Given the description of an element on the screen output the (x, y) to click on. 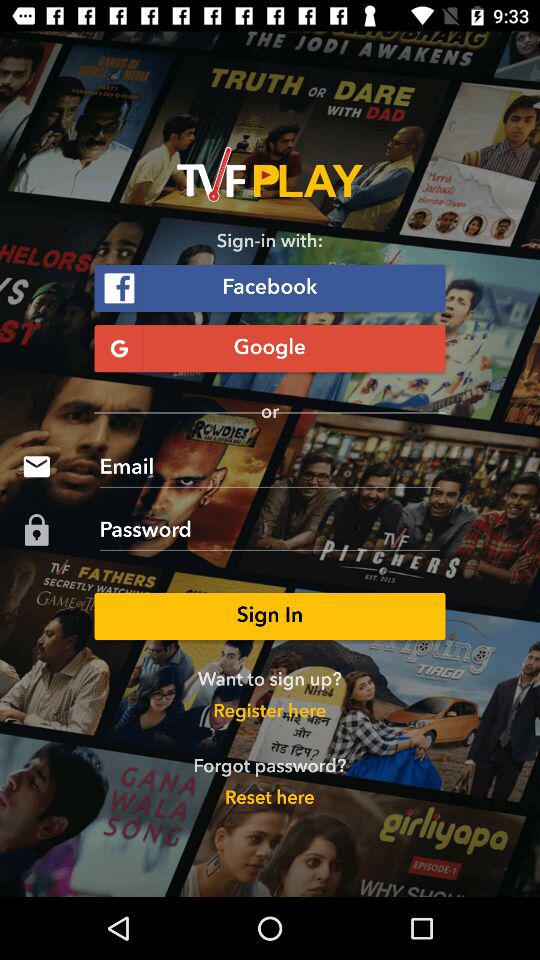
click on reset here (269, 799)
select a f facebook on a page (270, 288)
select the password icon (36, 529)
select the icon which is before email on page (36, 466)
